Given the description of an element on the screen output the (x, y) to click on. 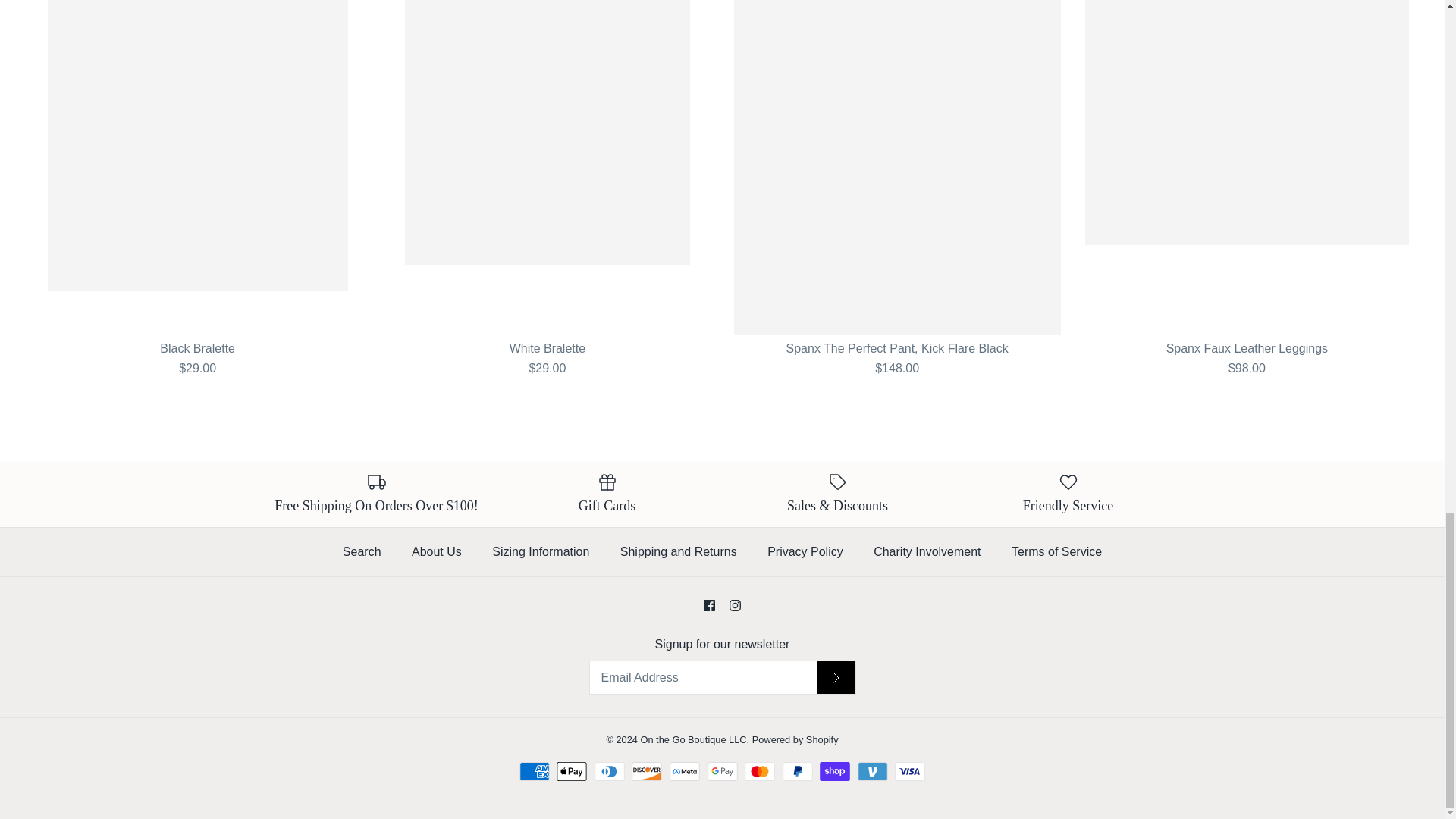
Discover (646, 771)
Facebook (708, 604)
Meta Pay (684, 771)
American Express (534, 771)
Diners Club (609, 771)
Apple Pay (571, 771)
Instagram (735, 604)
Label (836, 482)
